Given the description of an element on the screen output the (x, y) to click on. 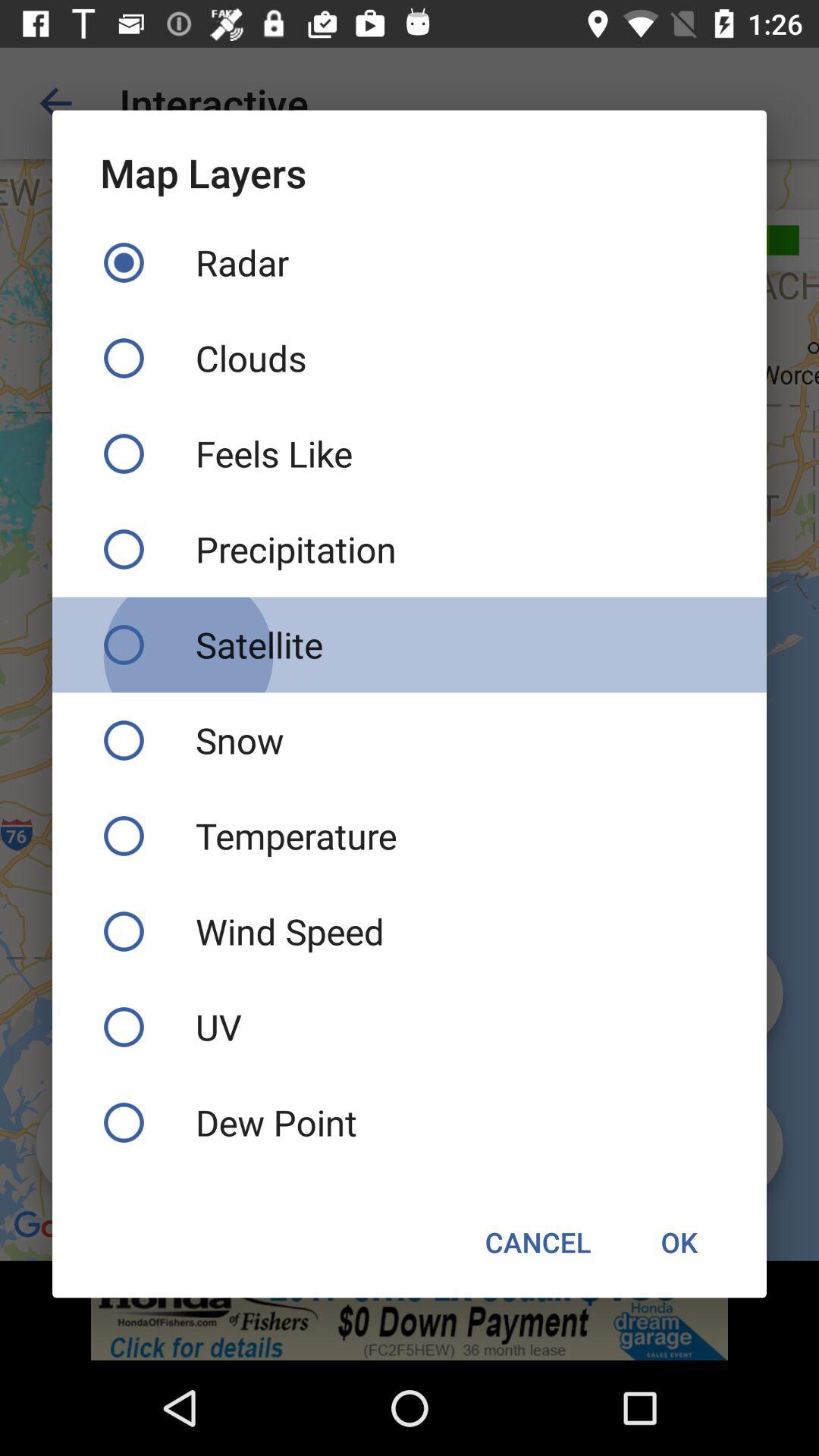
swipe until the cancel icon (538, 1241)
